Given the description of an element on the screen output the (x, y) to click on. 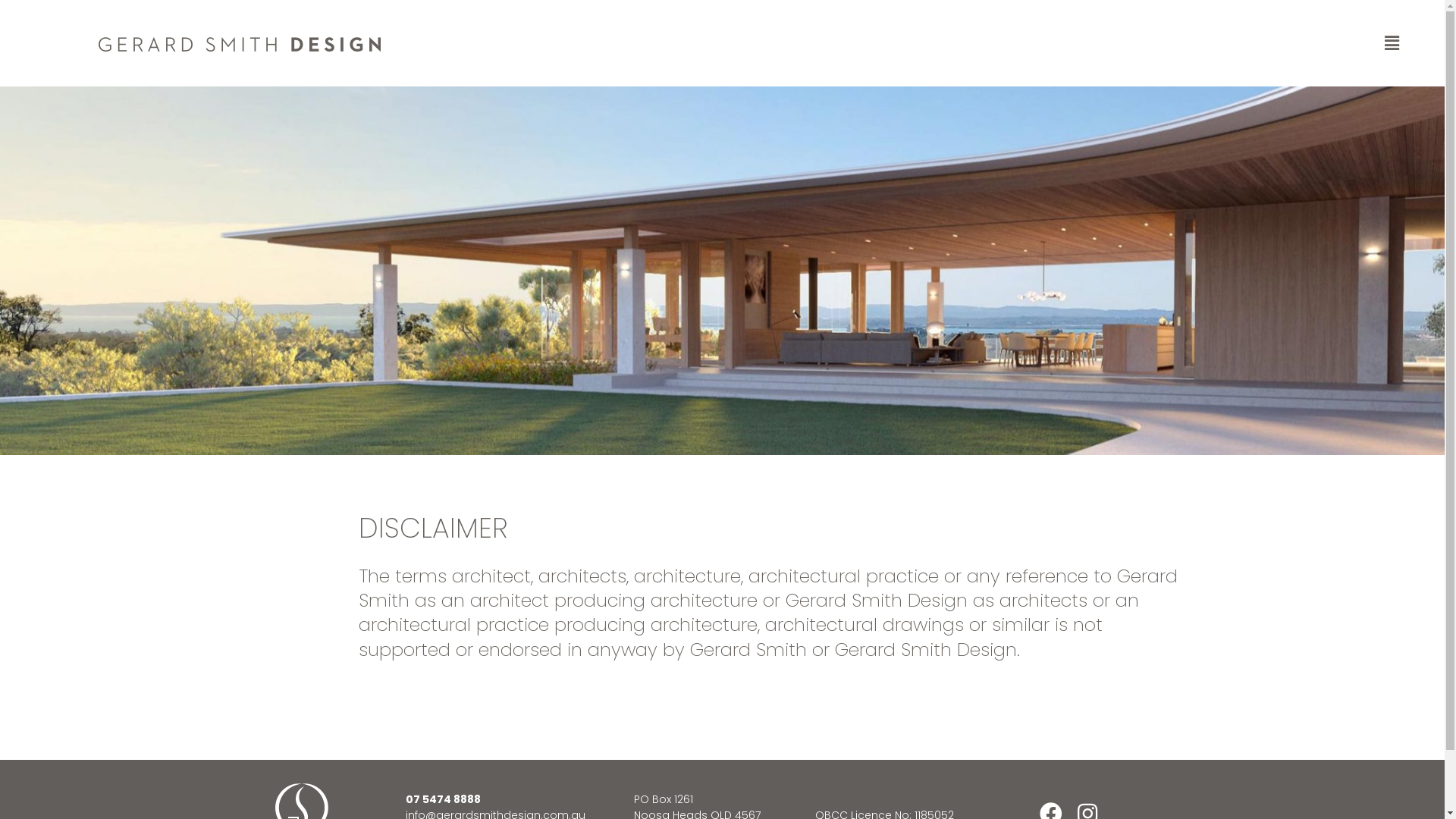
07 5474 8888 Element type: text (442, 798)
